Given the description of an element on the screen output the (x, y) to click on. 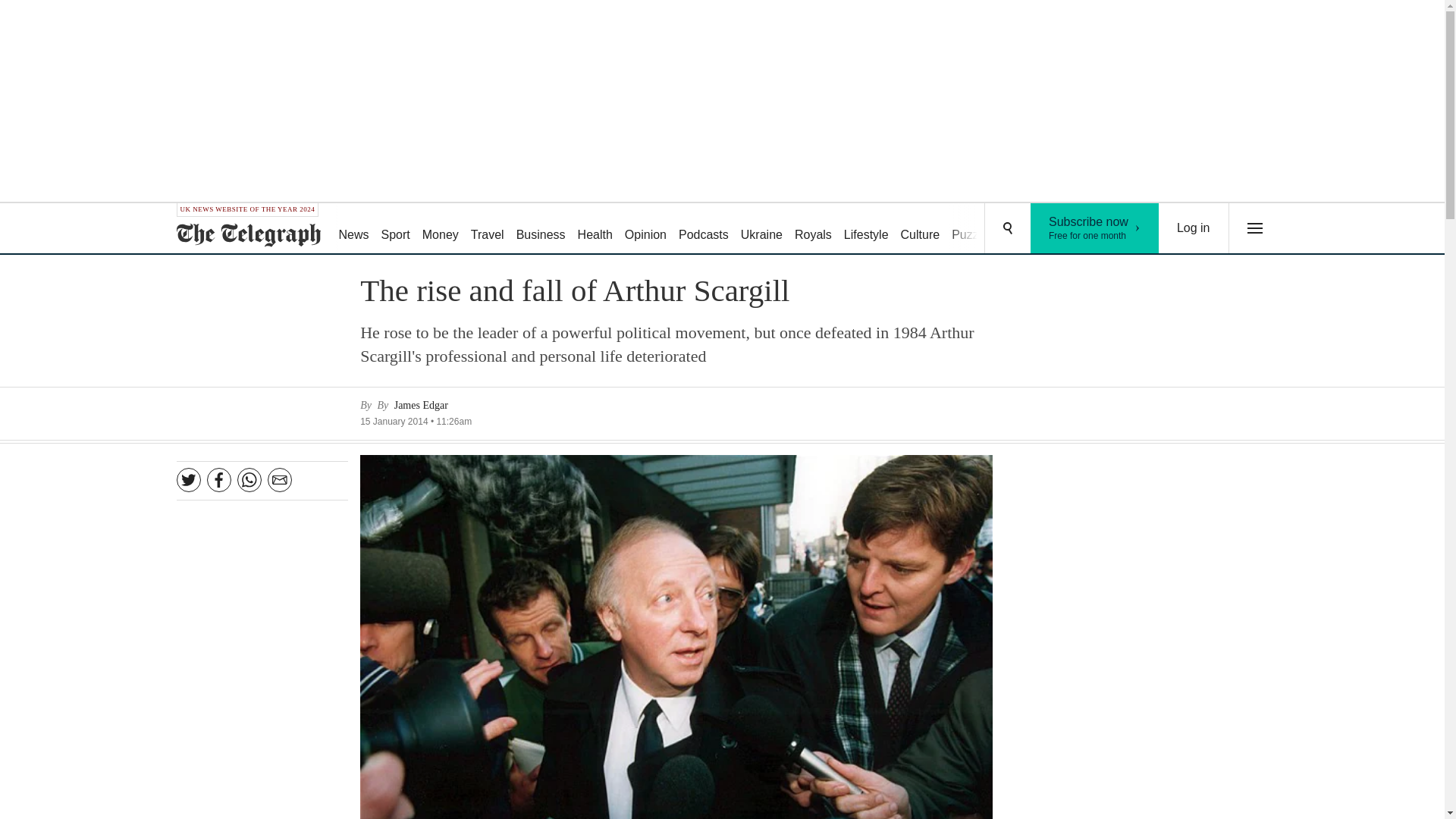
Health (595, 228)
Log in (1094, 228)
News (1193, 228)
Money (352, 228)
Ukraine (440, 228)
Opinion (762, 228)
Lifestyle (645, 228)
Royals (866, 228)
Business (813, 228)
Puzzles (541, 228)
Culture (972, 228)
Travel (920, 228)
Podcasts (487, 228)
Sport (703, 228)
